Given the description of an element on the screen output the (x, y) to click on. 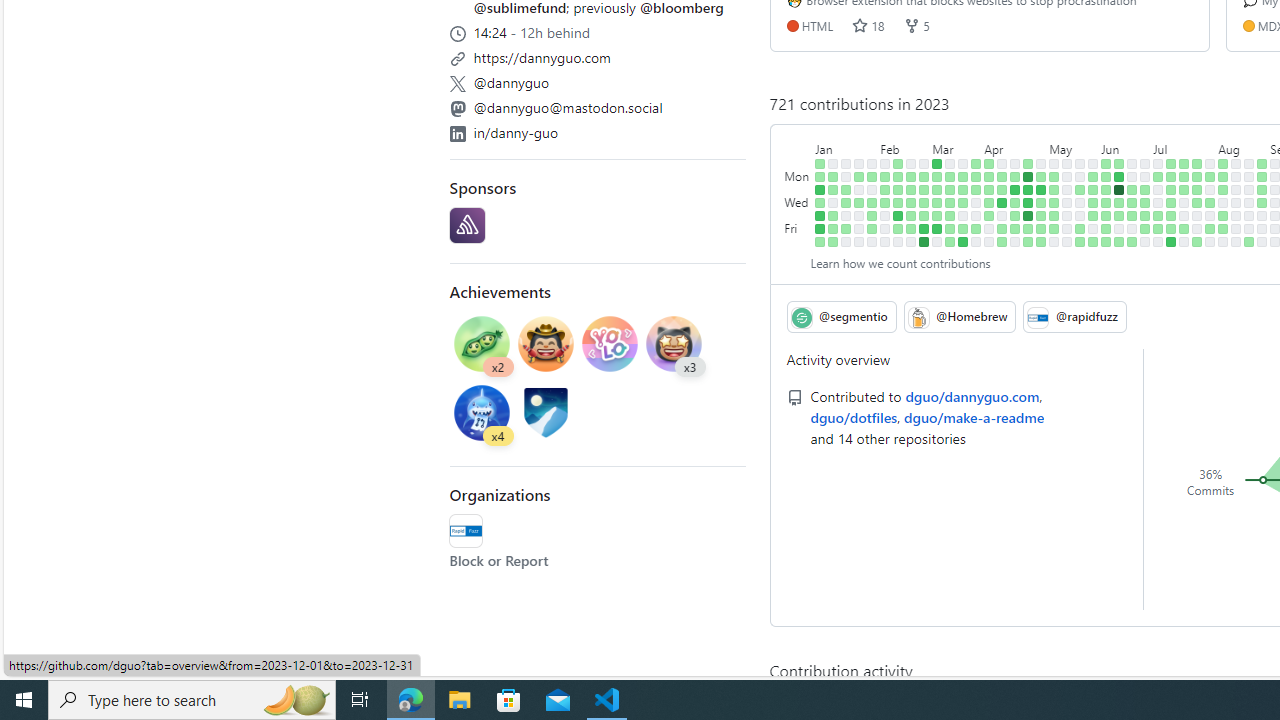
2 contributions on August 26th. (1249, 241)
Block or Report (499, 560)
3 contributions on May 12th. (1054, 228)
No contributions on February 9th. (885, 215)
2 contributions on May 26th. (1080, 228)
14:24 - 12h behind (597, 30)
X (457, 84)
2 contributions on July 26th. (1197, 202)
No contributions on August 16th. (1236, 202)
No contributions on September 1st. (1262, 228)
No contributions on May 20th. (1067, 241)
No contributions on May 28th. (1093, 163)
2 contributions on August 10th. (1223, 215)
3 contributions on February 20th. (911, 176)
No contributions on August 9th. (1223, 202)
